Given the description of an element on the screen output the (x, y) to click on. 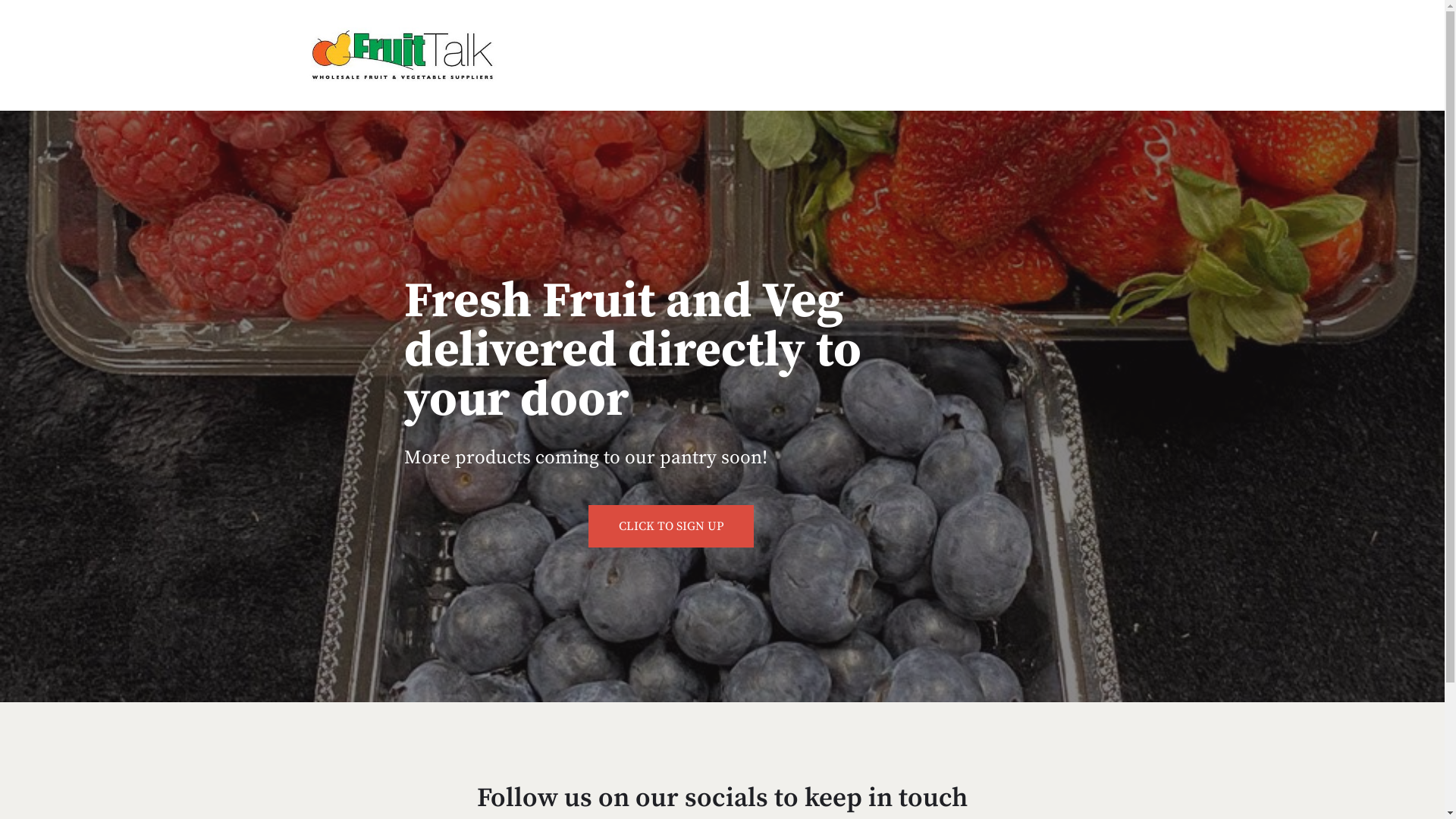
CLICK TO SIGN UP Element type: text (670, 526)
Fresh Fruit Delivered Element type: hover (403, 55)
Skip to content Element type: text (15, 7)
